Given the description of an element on the screen output the (x, y) to click on. 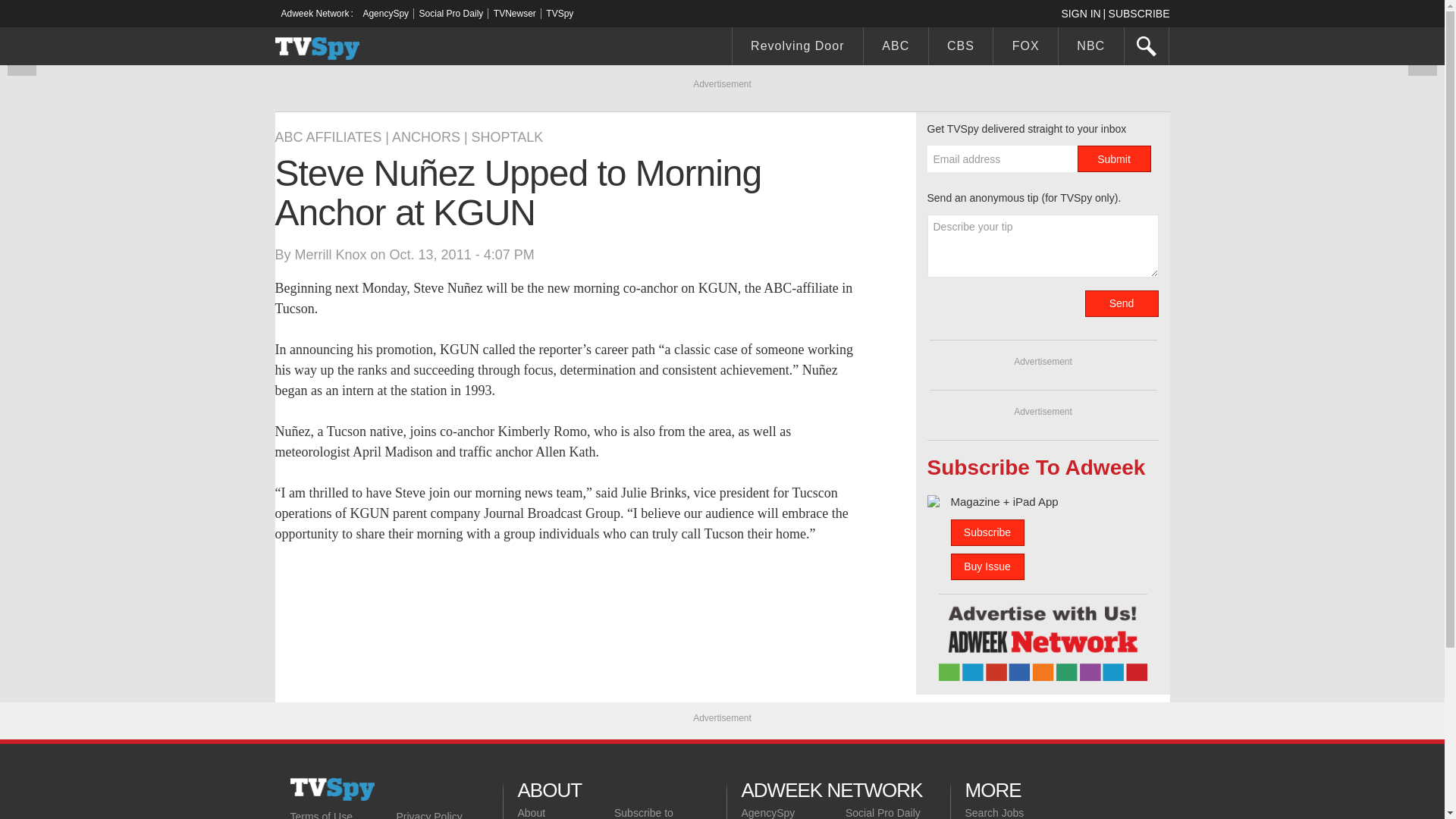
Send (1120, 303)
TVNewser (514, 13)
Covering local television news (331, 789)
Social Pro Daily (451, 13)
Revolving Door (797, 48)
AgencySpy (385, 13)
Adweek Network (316, 13)
TVSpy (559, 13)
SIGN IN (1083, 13)
NBC (1091, 48)
